Given the description of an element on the screen output the (x, y) to click on. 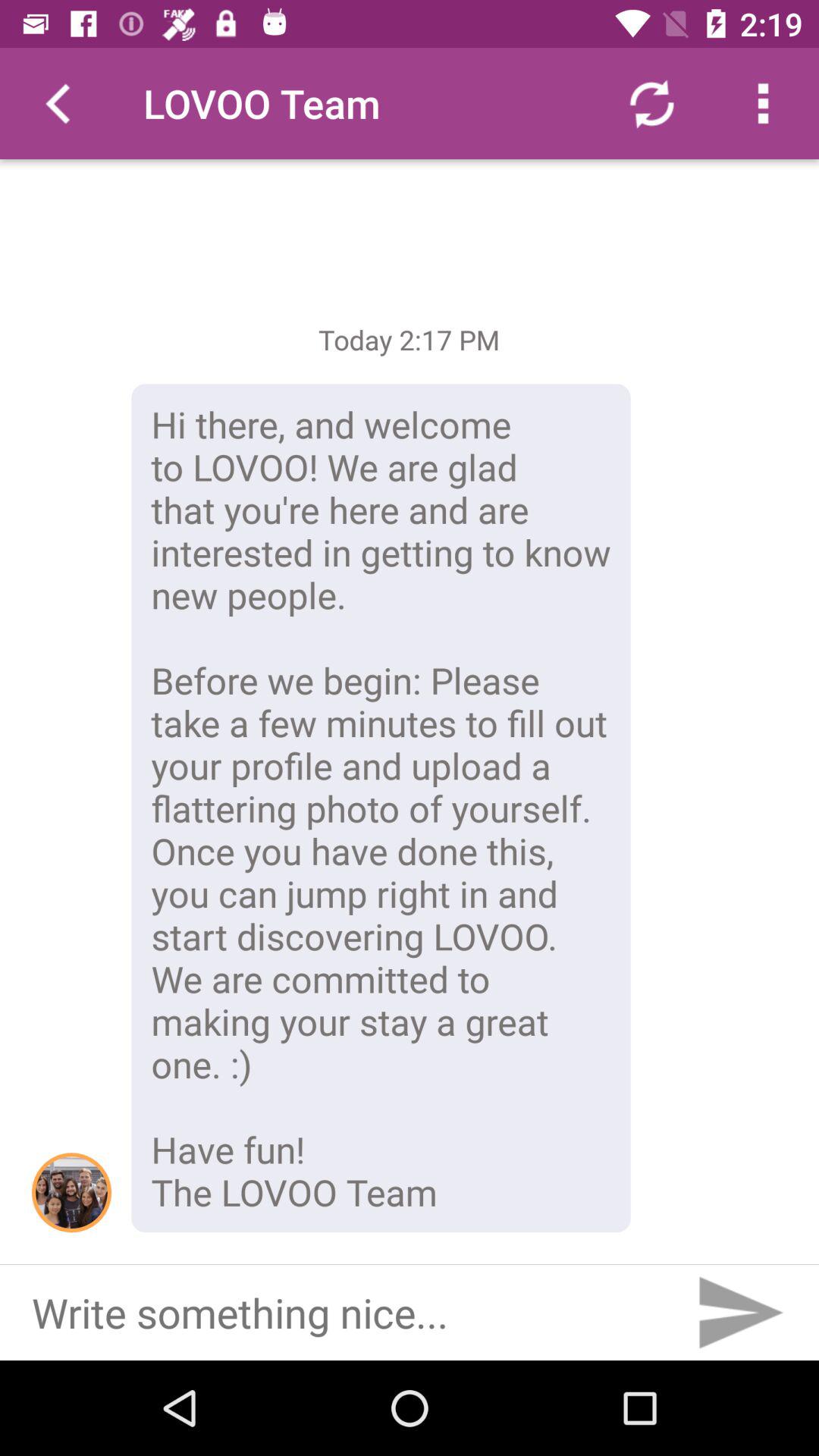
turn on hi there and icon (380, 807)
